Given the description of an element on the screen output the (x, y) to click on. 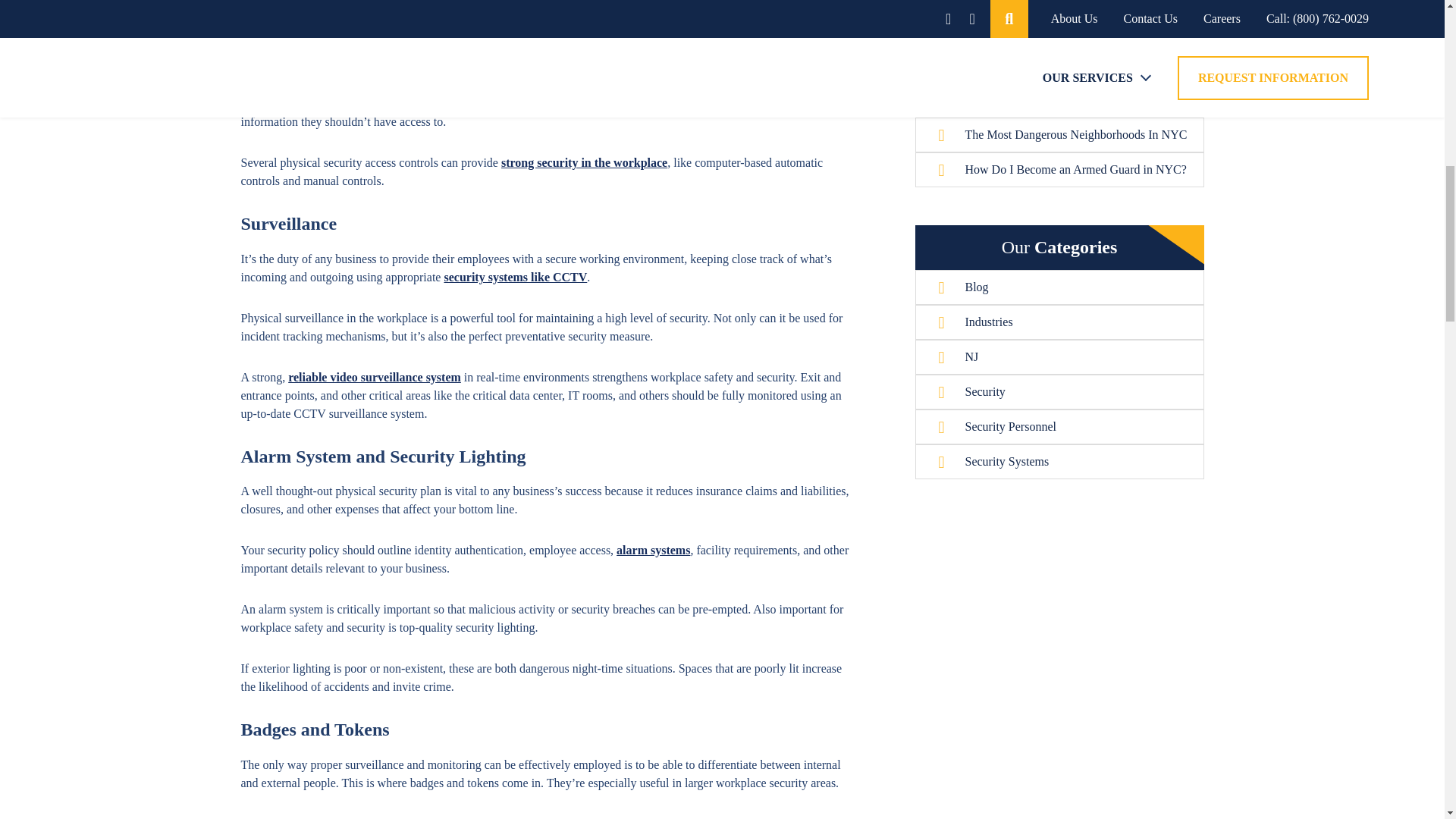
security systems like CCTV (515, 277)
reliable video surveillance system (374, 377)
A Day in the Life of a Security Guard: Behind the Scenes (1071, 10)
alarm systems (652, 549)
strong security in the workplace (583, 162)
